Given the description of an element on the screen output the (x, y) to click on. 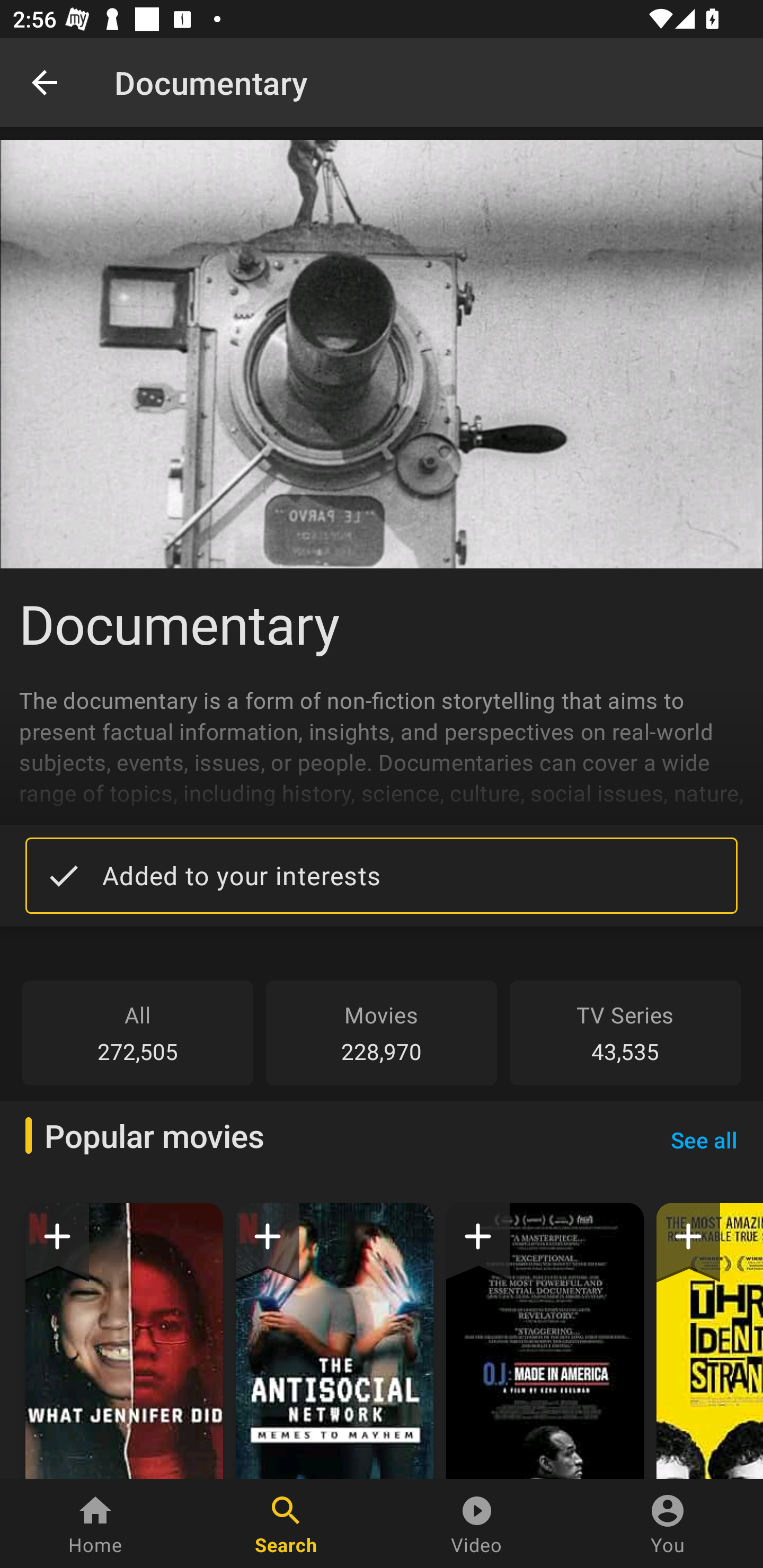
Added to your interests (381, 875)
All 272,505 (137, 1032)
Movies 228,970 (381, 1032)
TV Series 43,535 (624, 1032)
See all See all Popular movies (703, 1139)
Home (95, 1523)
Video (476, 1523)
You (667, 1523)
